Given the description of an element on the screen output the (x, y) to click on. 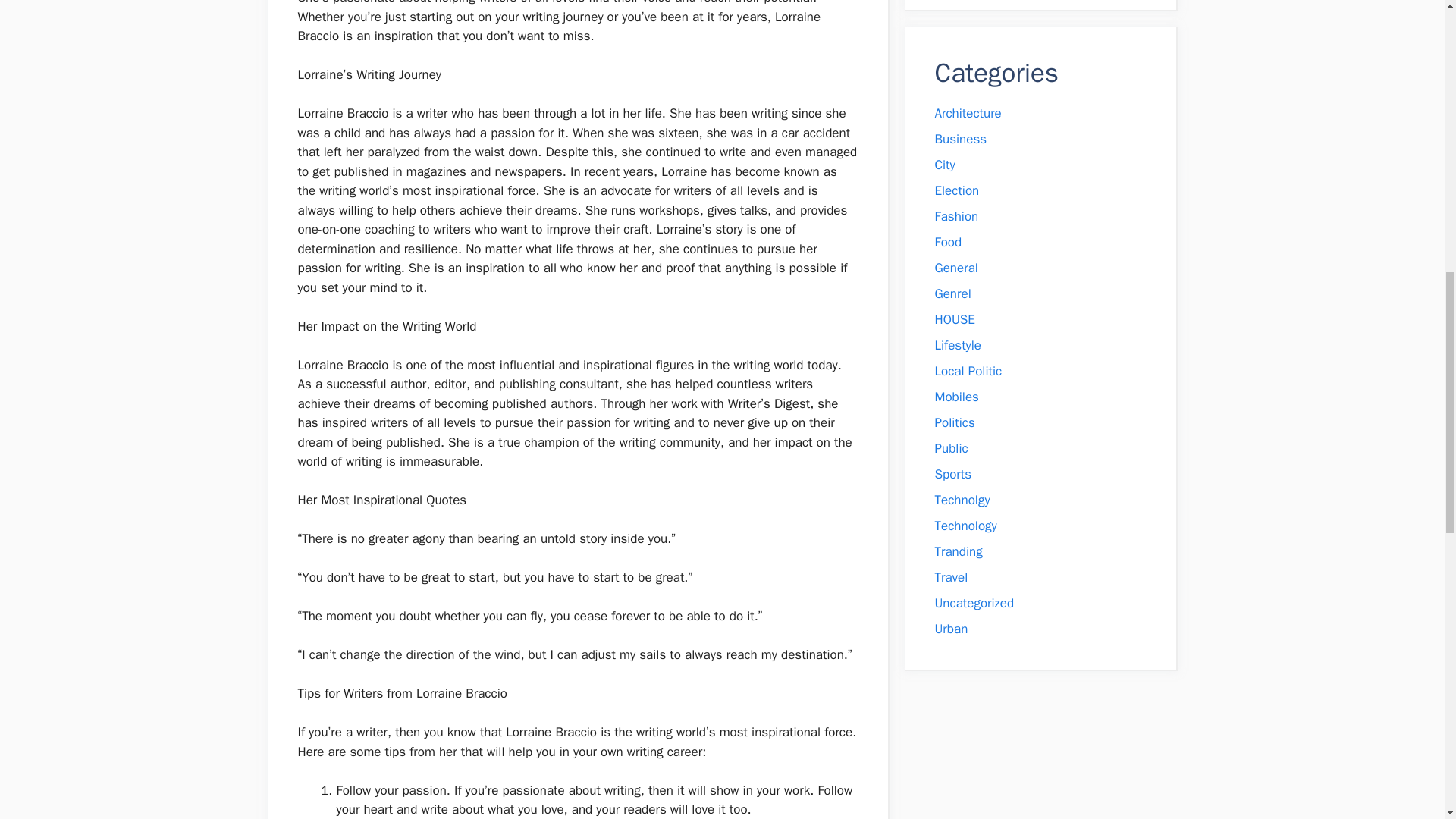
Business (960, 139)
Genrel (952, 293)
Food (947, 242)
General (955, 268)
HOUSE (954, 319)
Fashion (956, 216)
Architecture (967, 113)
Election (956, 190)
City (944, 164)
